Given the description of an element on the screen output the (x, y) to click on. 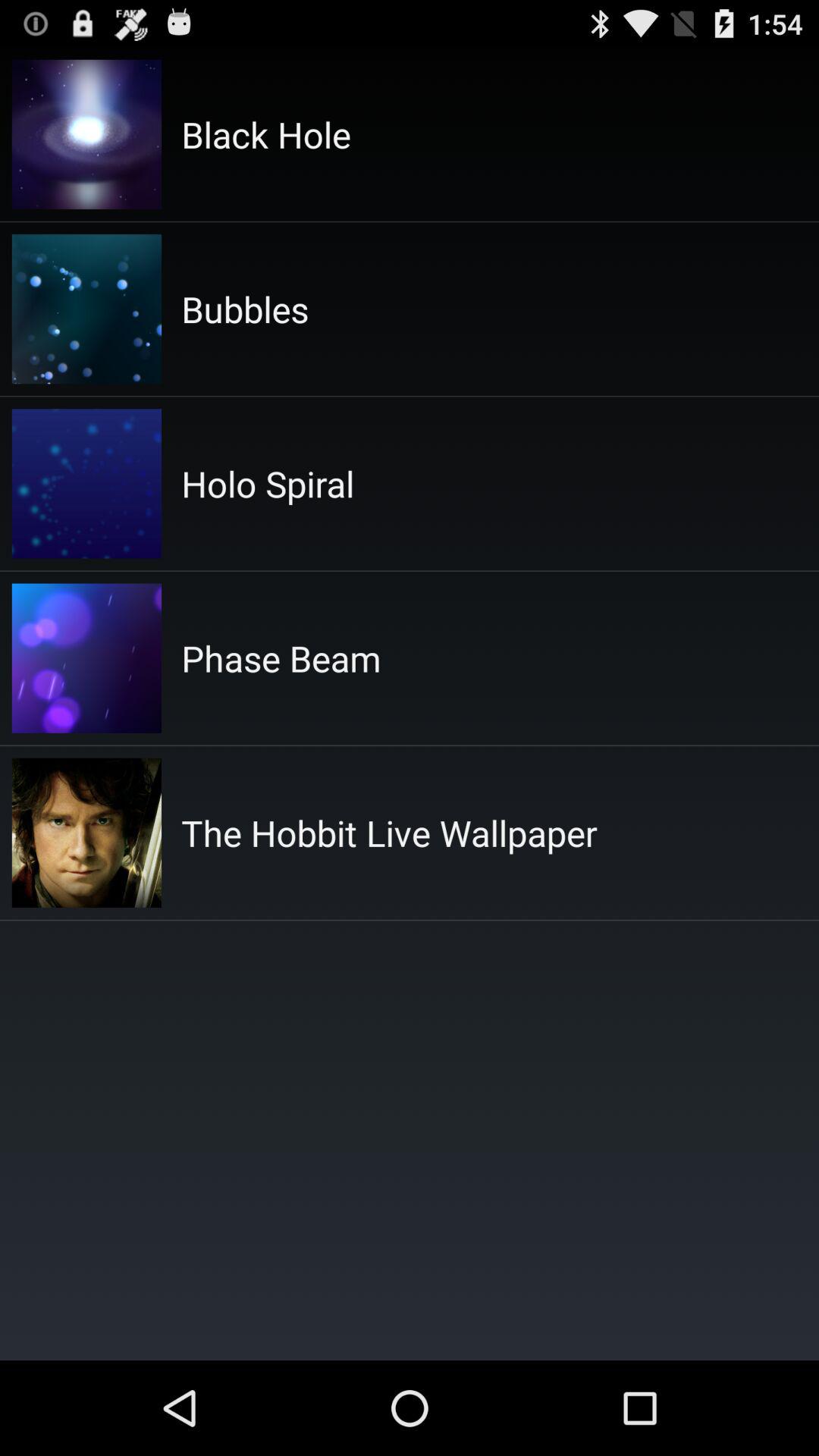
flip to bubbles item (244, 308)
